Given the description of an element on the screen output the (x, y) to click on. 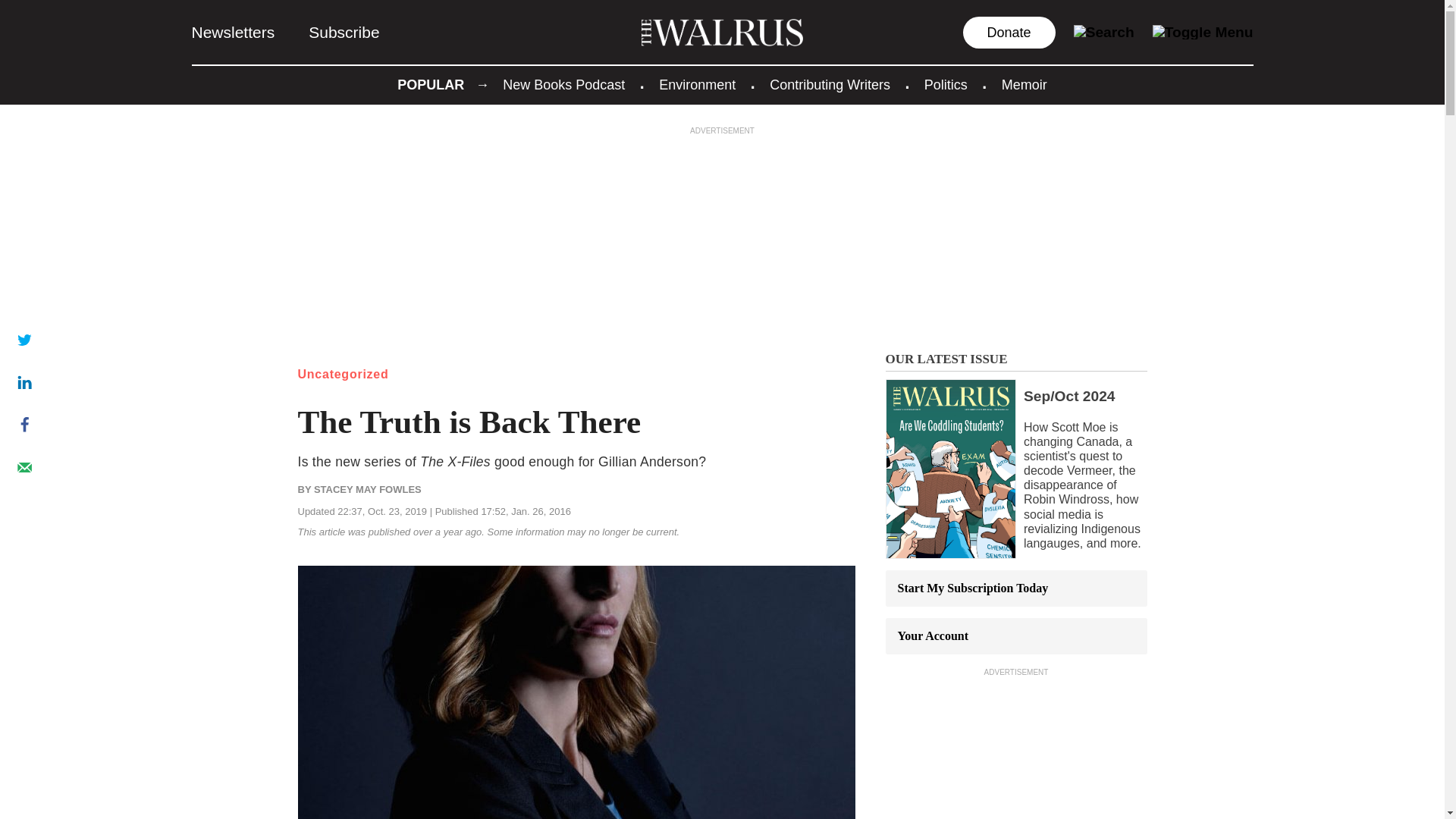
Environment (697, 85)
New Books Podcast (563, 85)
Donate (1008, 32)
Contributing Writers (829, 85)
Posts by Stacey May Fowles (368, 489)
Subscribe (343, 31)
3rd party ad content (1015, 748)
Share on LinkedIn (23, 381)
Newsletters (232, 31)
Share on Twitter (23, 339)
Share on Facebook (23, 424)
Send over email (23, 467)
Politics (946, 85)
